Given the description of an element on the screen output the (x, y) to click on. 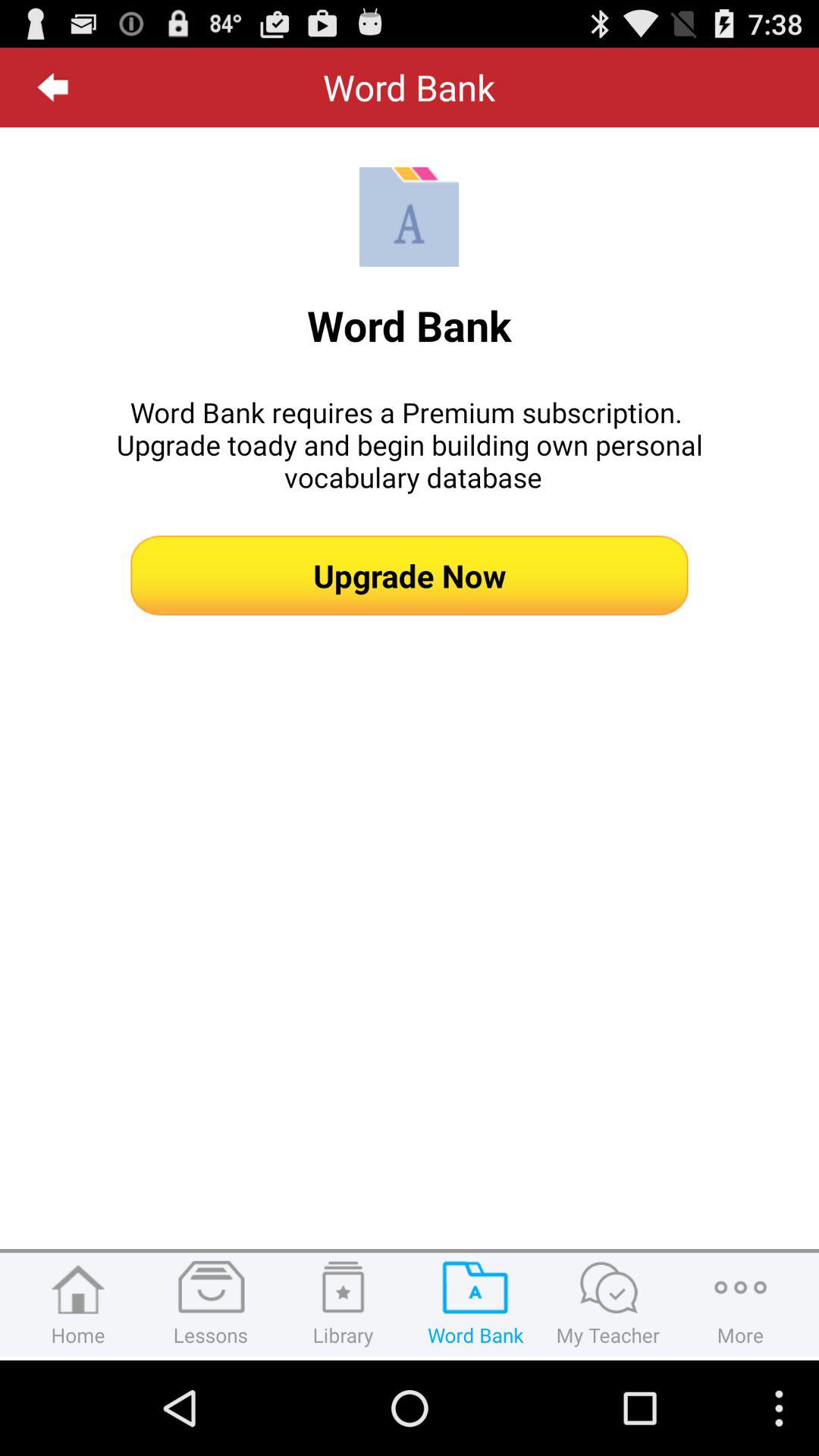
turn on the app above the word bank requires icon (53, 87)
